Given the description of an element on the screen output the (x, y) to click on. 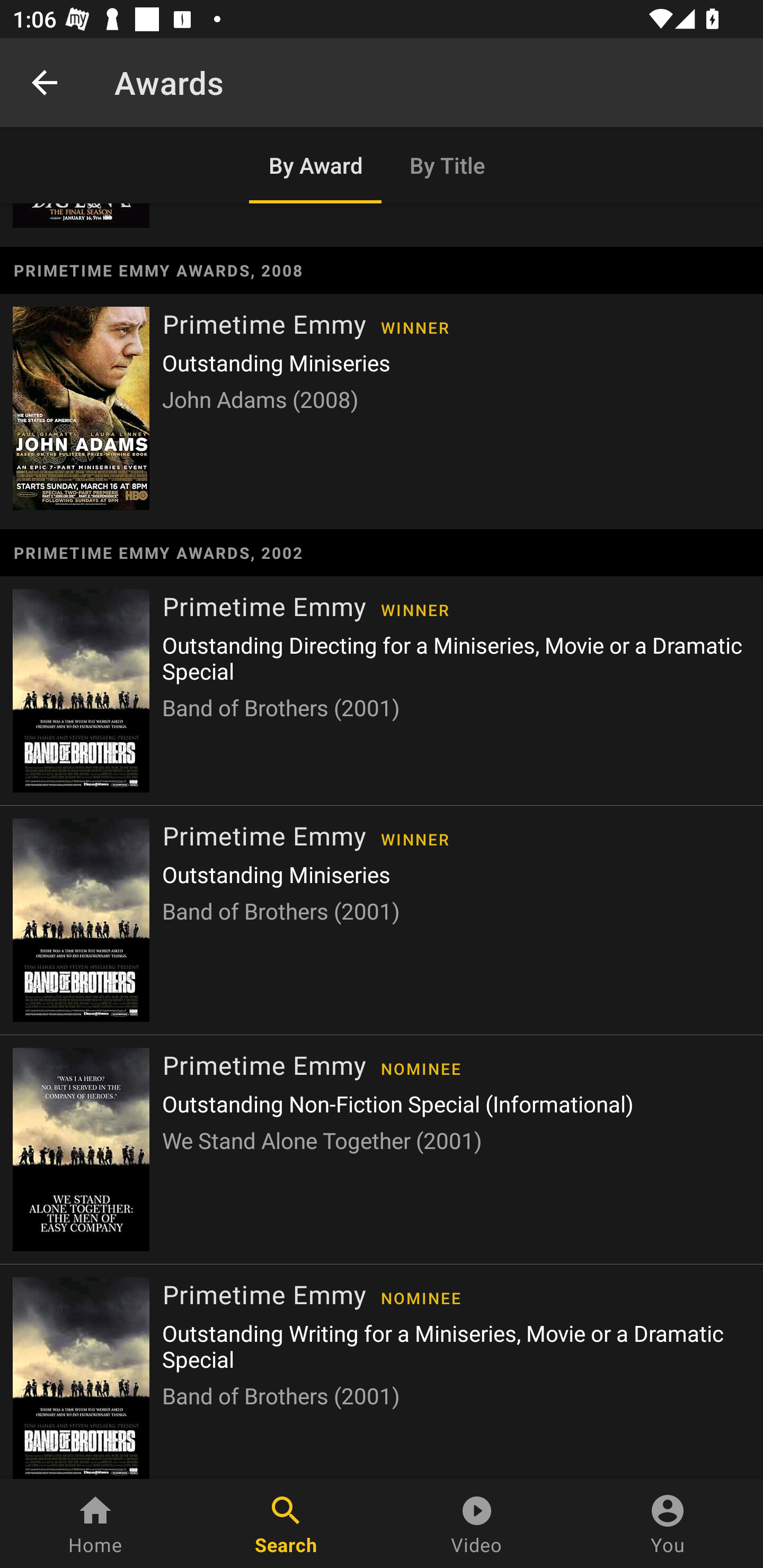
By Title (447, 165)
Home (95, 1523)
Video (476, 1523)
You (667, 1523)
